Given the description of an element on the screen output the (x, y) to click on. 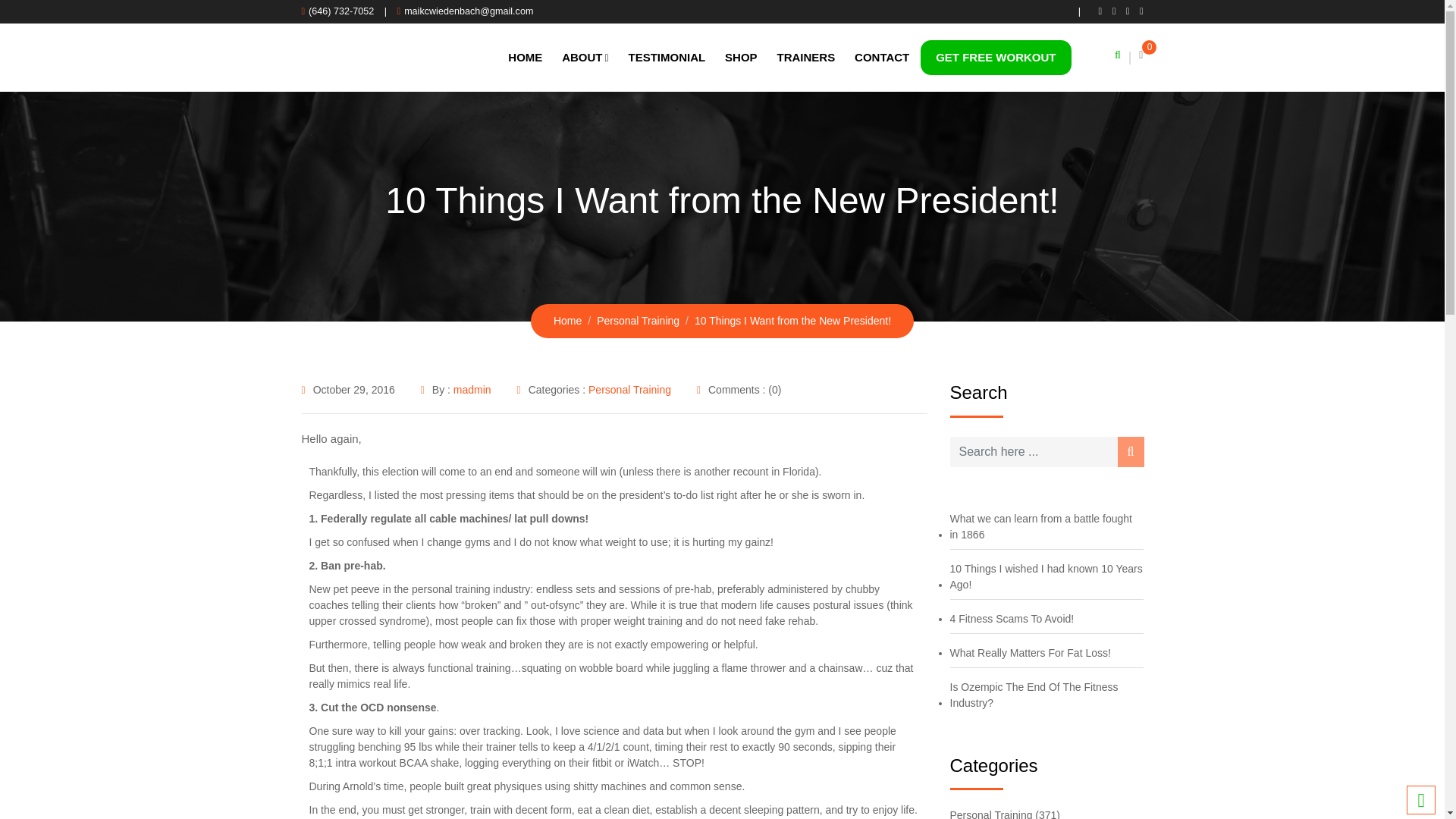
GET FREE WORKOUT (995, 57)
4 Fitness Scams To Avoid!  (1013, 619)
madmin (472, 389)
Posts by madmin (472, 389)
CONTACT (881, 56)
ABOUT (584, 57)
What we can learn from a battle fought in 1866 (1045, 526)
Personal Training (629, 389)
TESTIMONIAL (667, 56)
About (584, 57)
Contact (881, 56)
10 Things I wished I had known 10 Years Ago! (1045, 576)
Testimonial (667, 56)
Trainers (806, 56)
TRAINERS (806, 56)
